Given the description of an element on the screen output the (x, y) to click on. 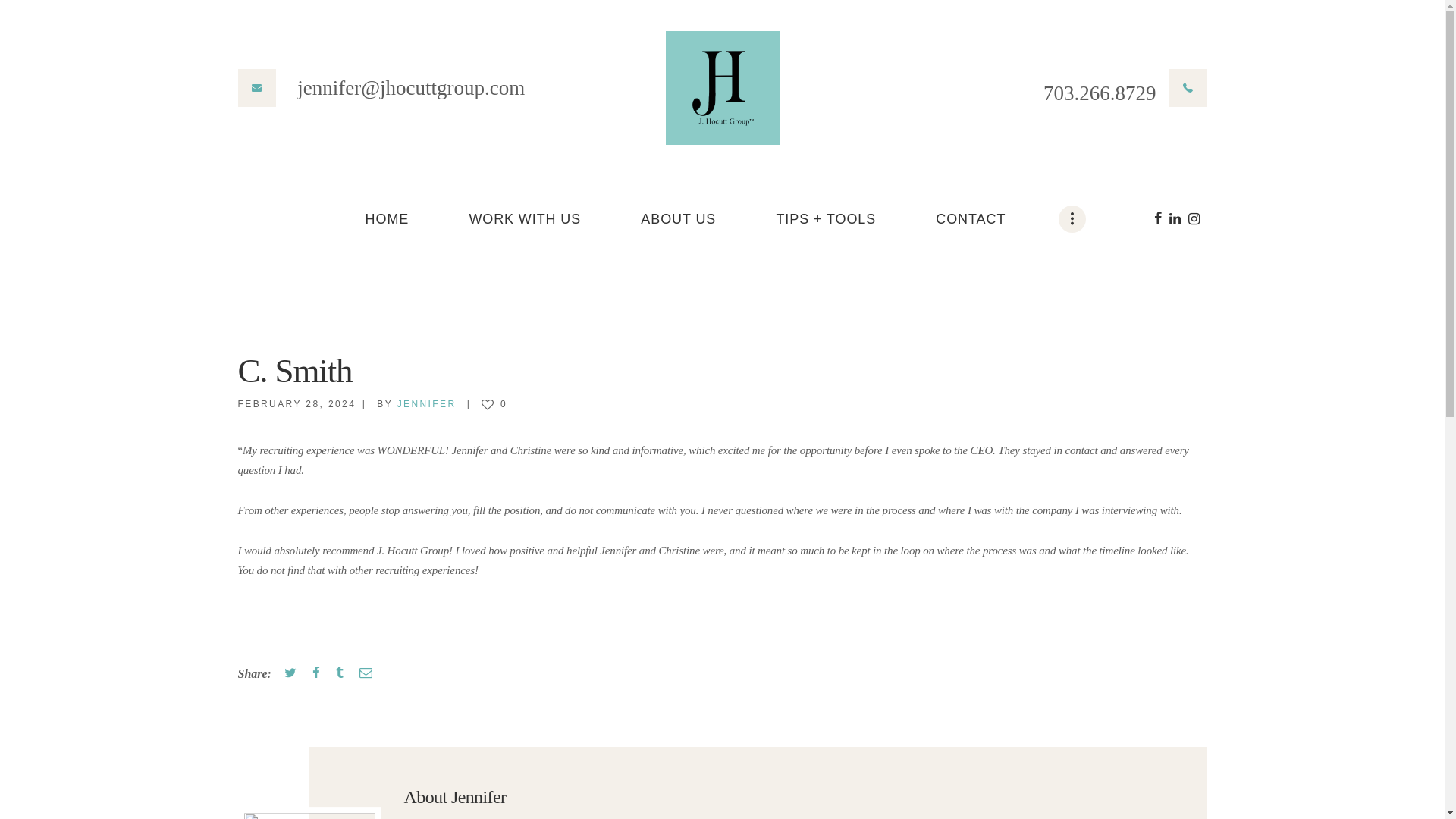
0 (494, 403)
FEBRUARY 28, 2024 (297, 403)
WORK WITH US (525, 219)
JENNIFER (437, 403)
CONTACT (970, 219)
HOME (386, 219)
Like (494, 403)
ABOUT US (678, 219)
